Given the description of an element on the screen output the (x, y) to click on. 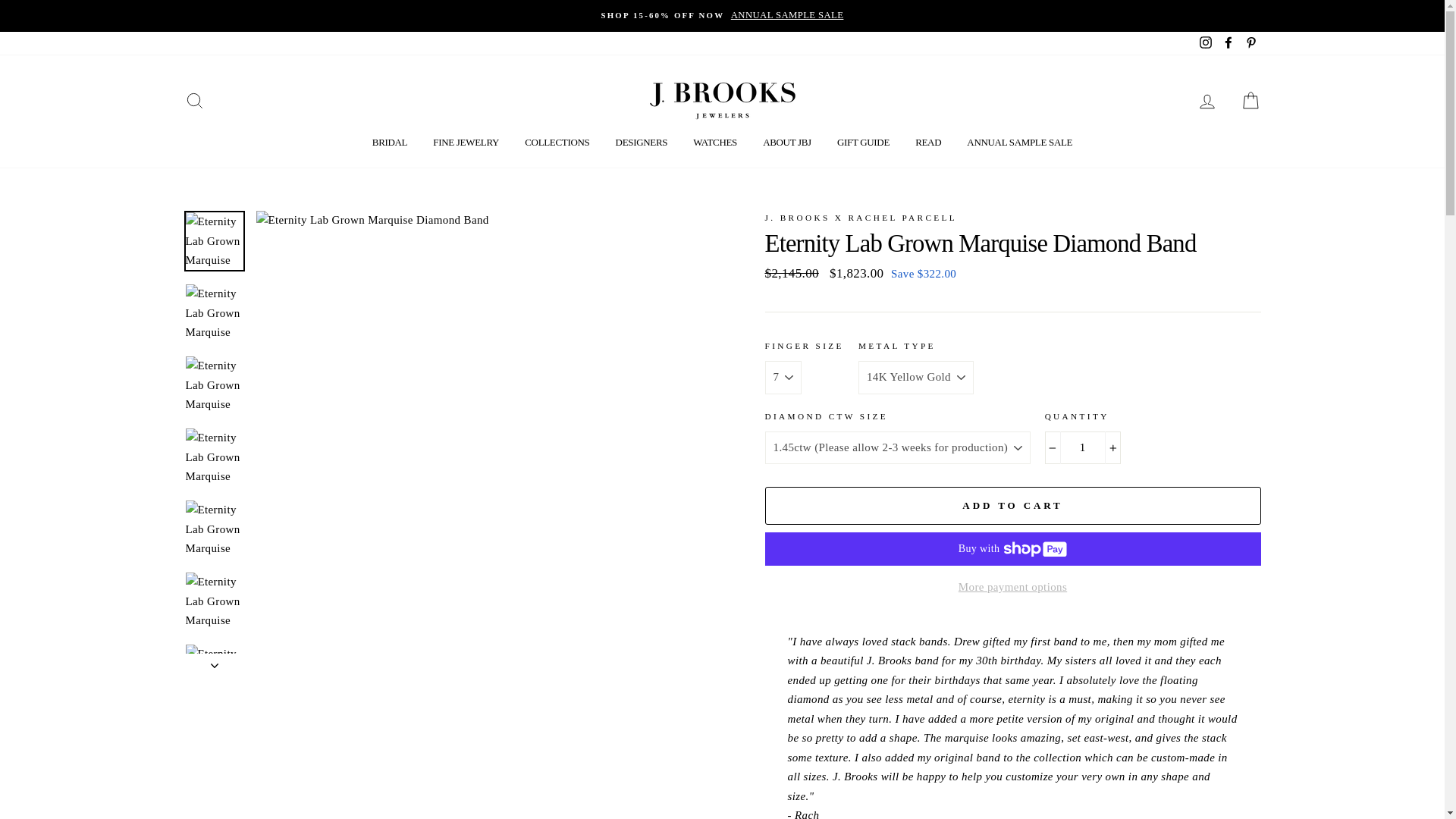
1 (1083, 448)
J. Brooks x Rachel Parcell (860, 216)
